Given the description of an element on the screen output the (x, y) to click on. 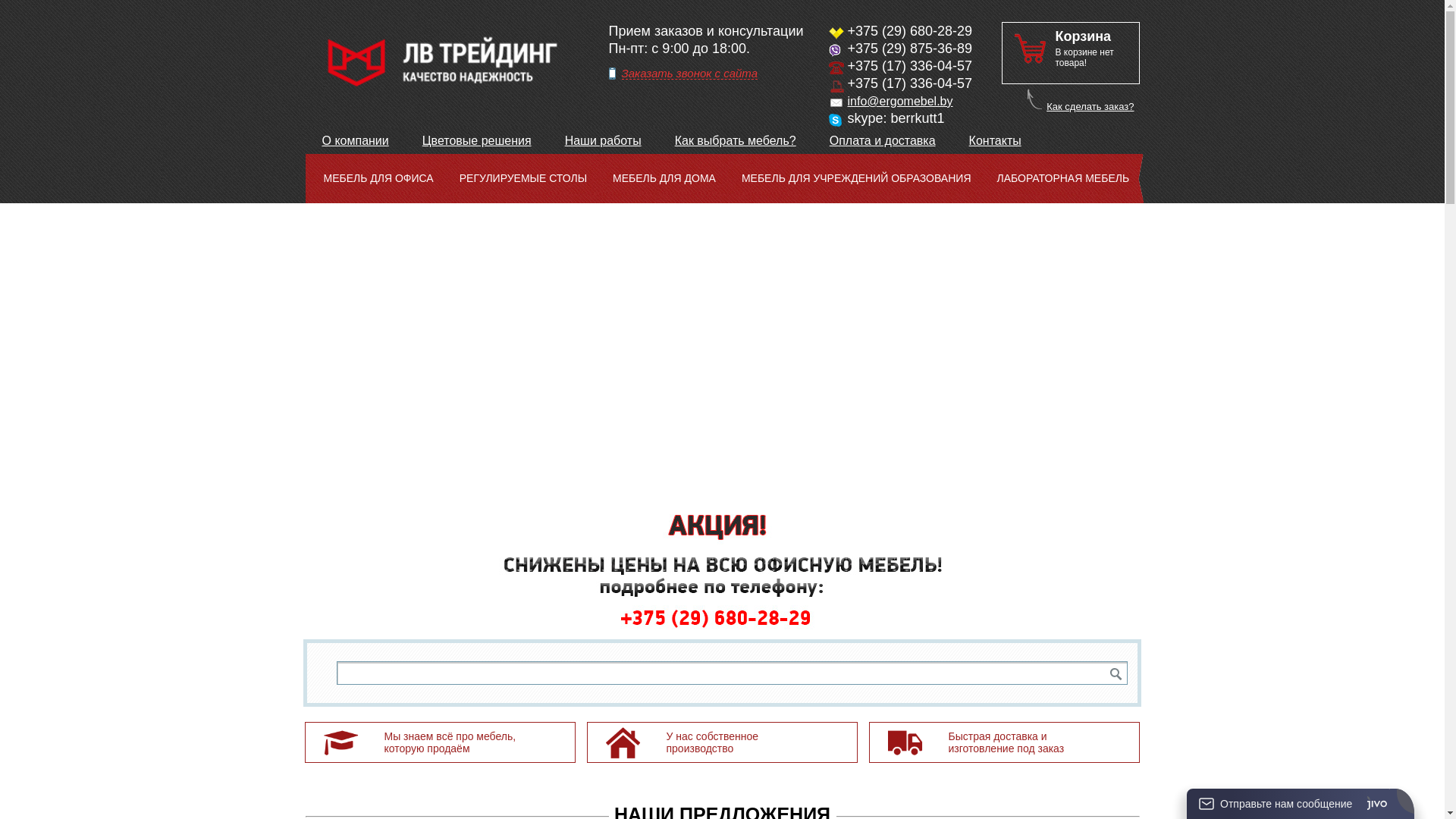
info@ergomebel.by Element type: text (900, 100)
